Given the description of an element on the screen output the (x, y) to click on. 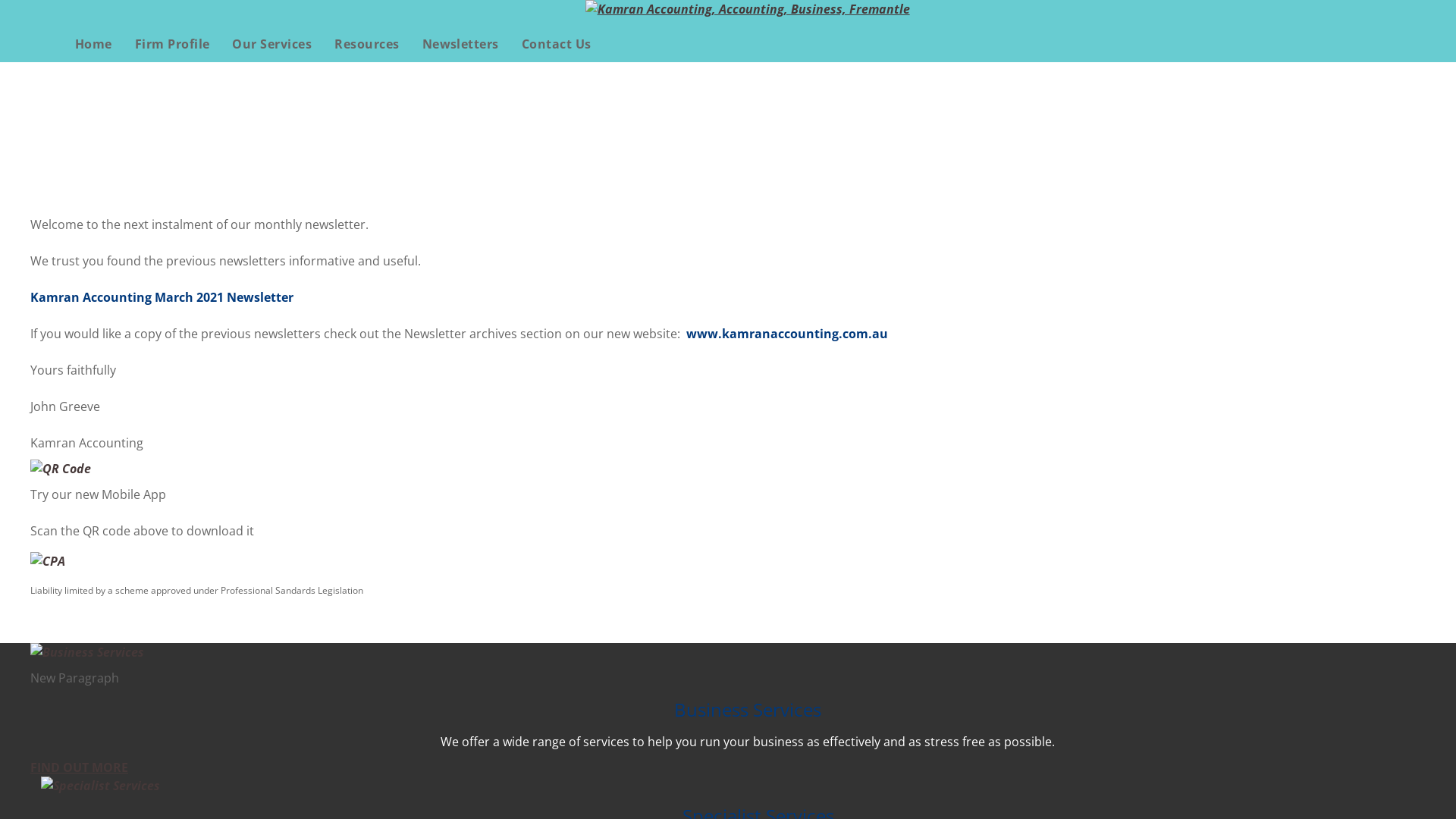
Resources Element type: text (366, 43)
Kamran Accounting March 2021 Newsletter Element type: text (161, 296)
Firm Profile Element type: text (172, 43)
Home Element type: text (93, 43)
Newsletters Element type: text (460, 43)
FIND OUT MORE Element type: text (79, 767)
www.kamranaccounting.com.au Element type: text (787, 333)
Our Services Element type: text (271, 43)
Kamran Accounting, Accounting, Business, Fremantle Element type: hover (747, 9)
Contact Us Element type: text (556, 43)
